Given the description of an element on the screen output the (x, y) to click on. 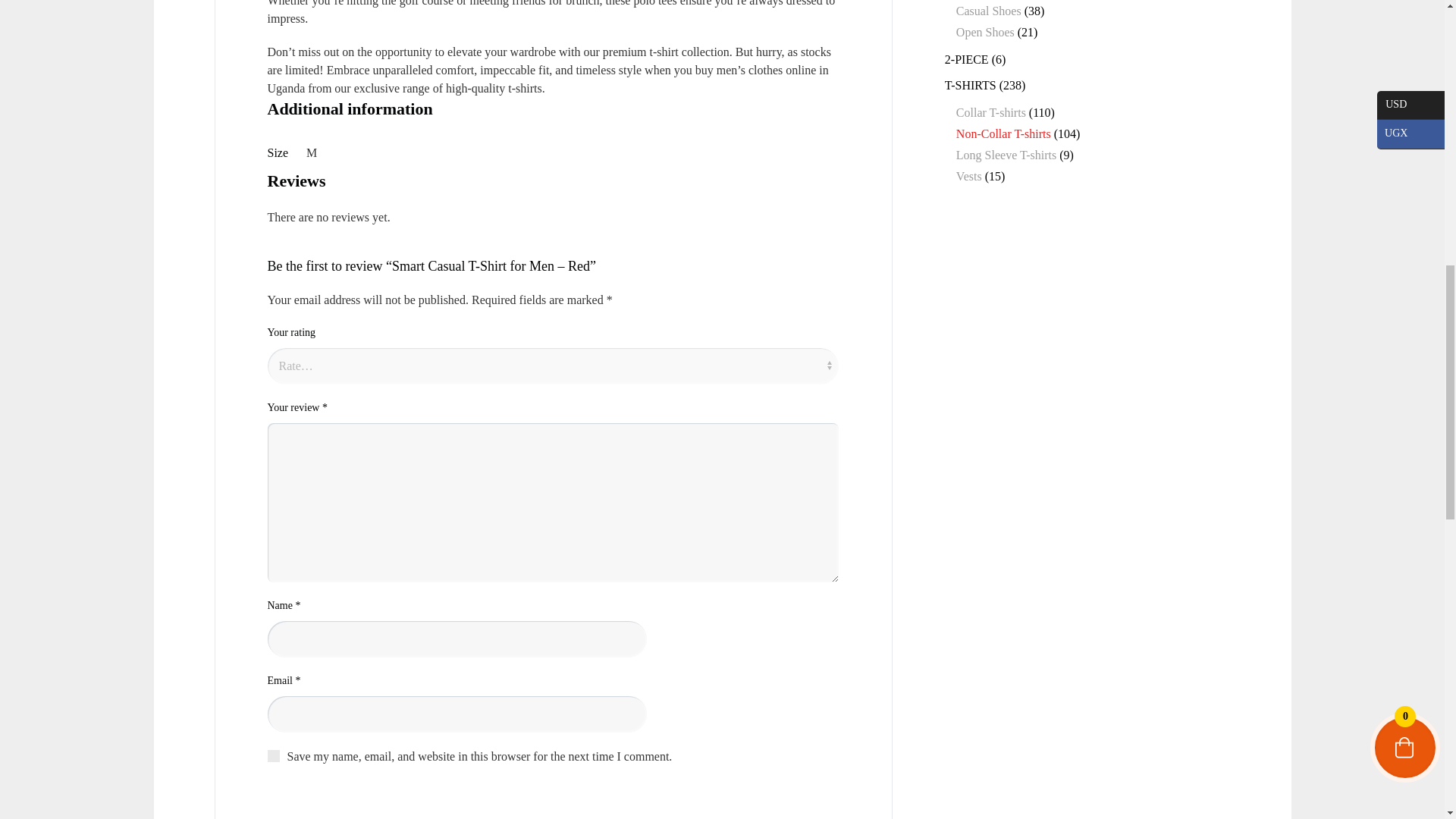
yes (272, 756)
